Given the description of an element on the screen output the (x, y) to click on. 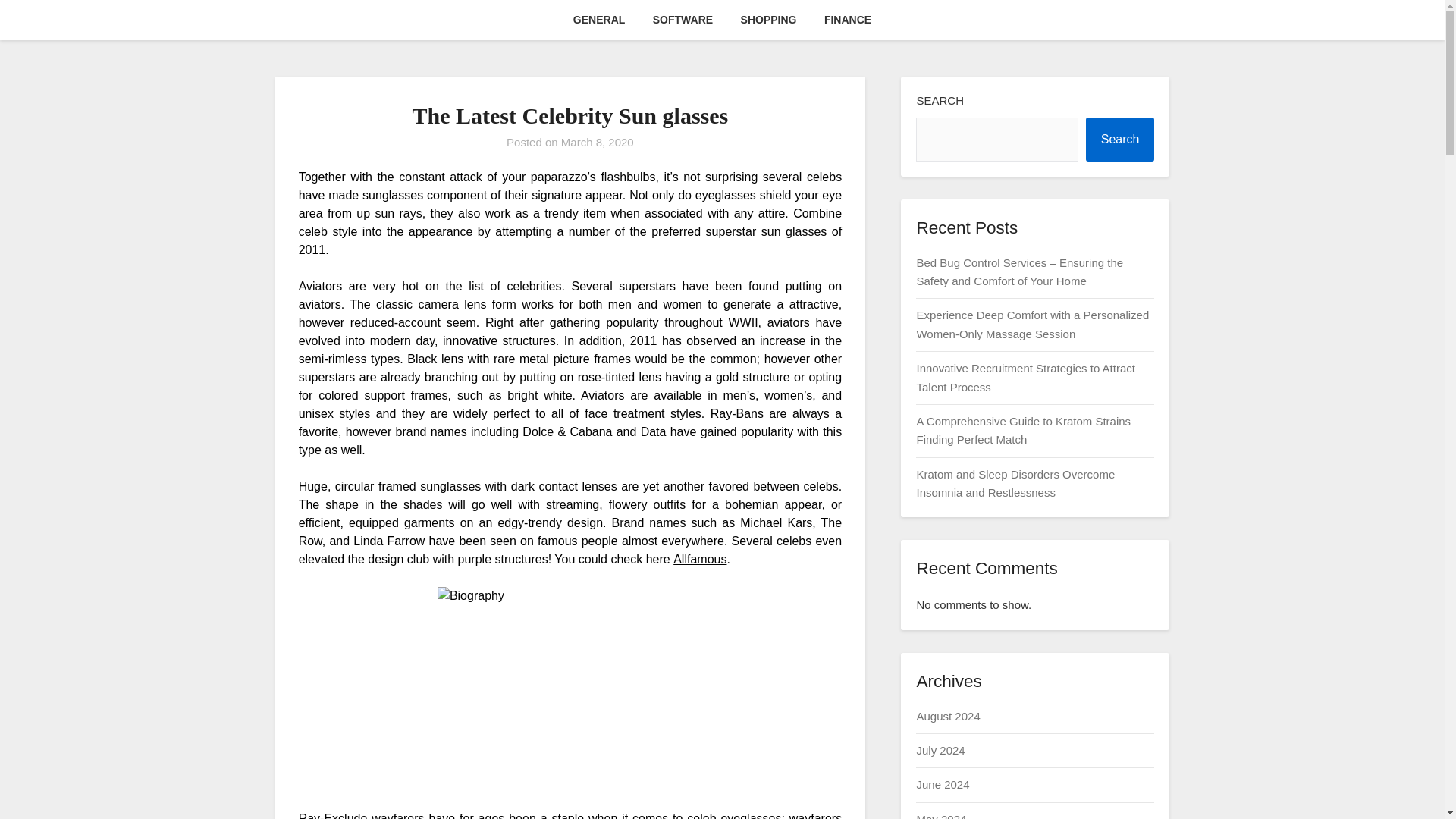
July 2024 (939, 749)
March 8, 2020 (596, 141)
Allfamous (699, 558)
SOFTWARE (682, 20)
August 2024 (947, 716)
FINANCE (847, 20)
GENERAL (598, 20)
May 2024 (940, 816)
